Given the description of an element on the screen output the (x, y) to click on. 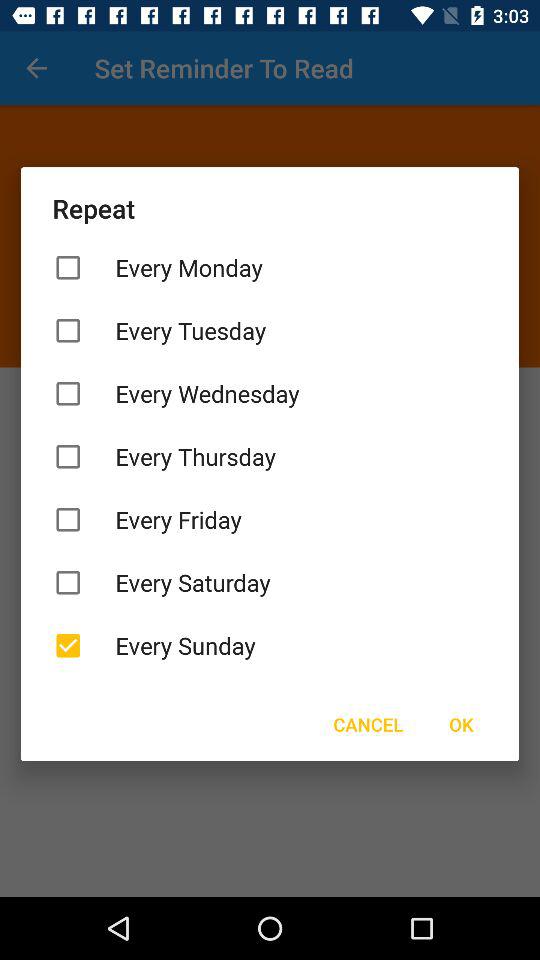
launch the every saturday (270, 582)
